Given the description of an element on the screen output the (x, y) to click on. 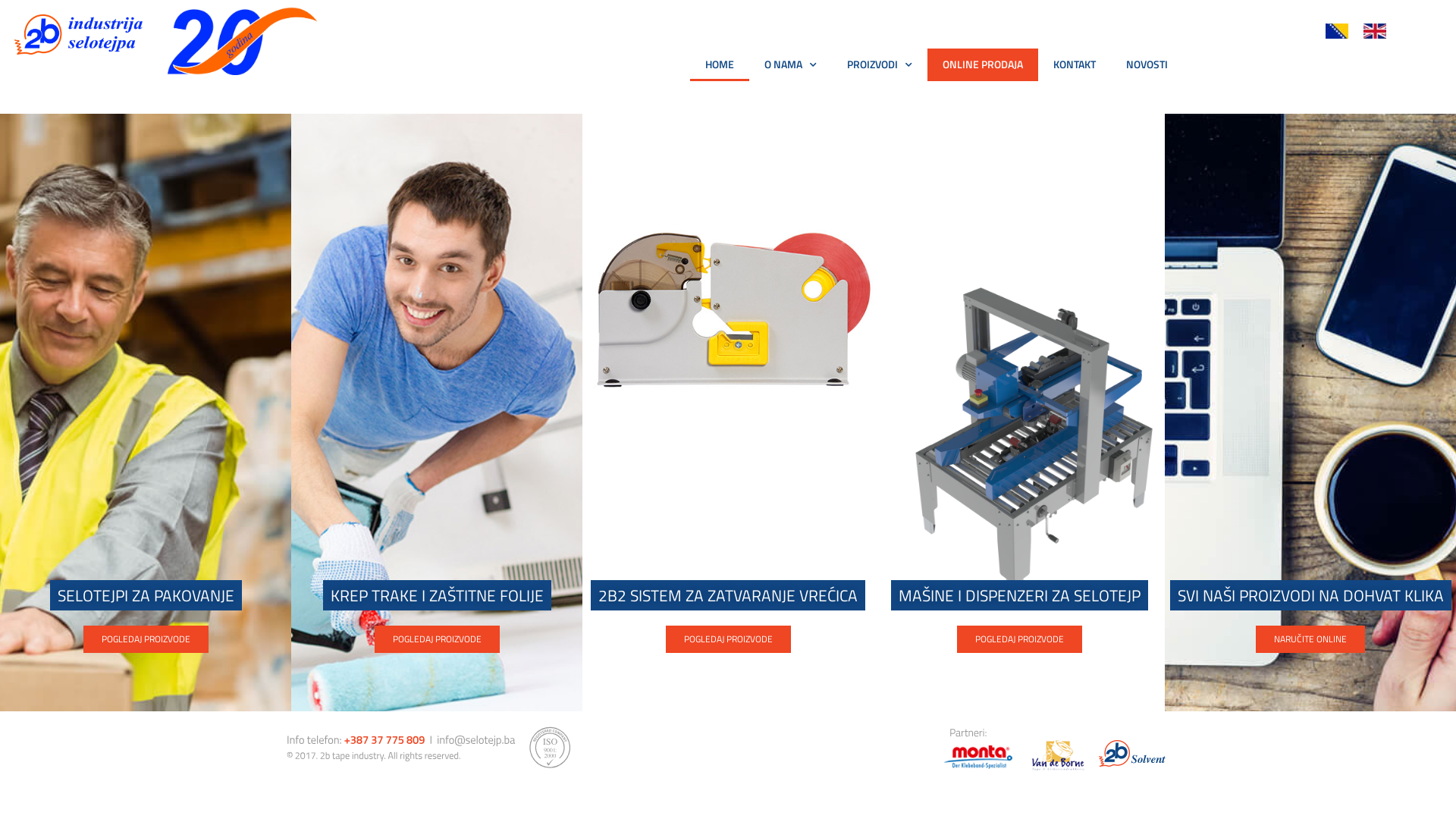
flag_eng Element type: hover (1374, 30)
SELOTEJPI ZA PAKOVANJE Element type: text (145, 595)
flag_bih Element type: hover (1336, 30)
POGLEDAJ PROIZVODE Element type: text (436, 638)
KONTAKT Element type: text (1074, 64)
PROIZVODI Element type: text (879, 64)
O NAMA Element type: text (790, 64)
POGLEDAJ PROIZVODE Element type: text (727, 638)
POGLEDAJ PROIZVODE Element type: text (145, 638)
POGLEDAJ PROIZVODE Element type: text (1019, 638)
ONLINE PRODAJA Element type: text (982, 64)
NOVOSTI Element type: text (1146, 64)
HOME Element type: text (719, 64)
